Given the description of an element on the screen output the (x, y) to click on. 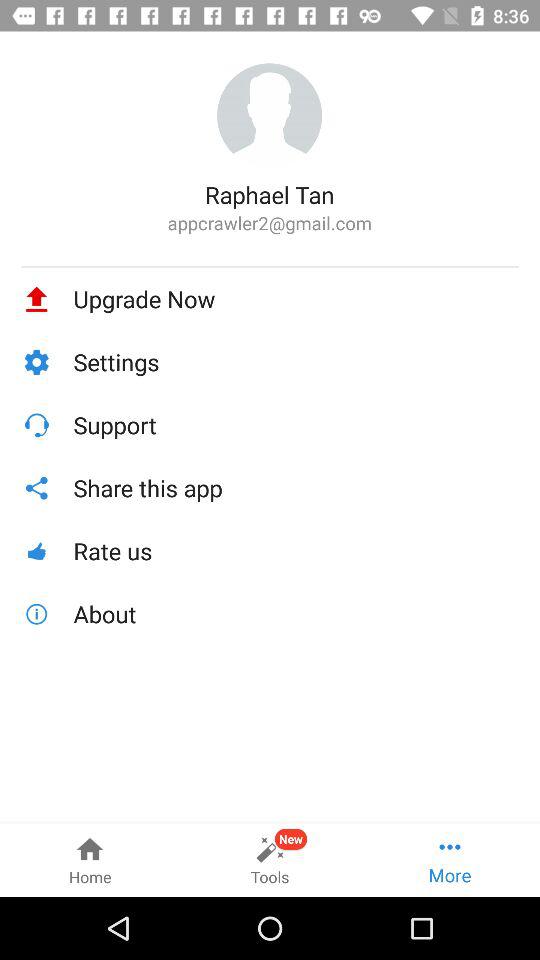
turn off the share this app (296, 487)
